Given the description of an element on the screen output the (x, y) to click on. 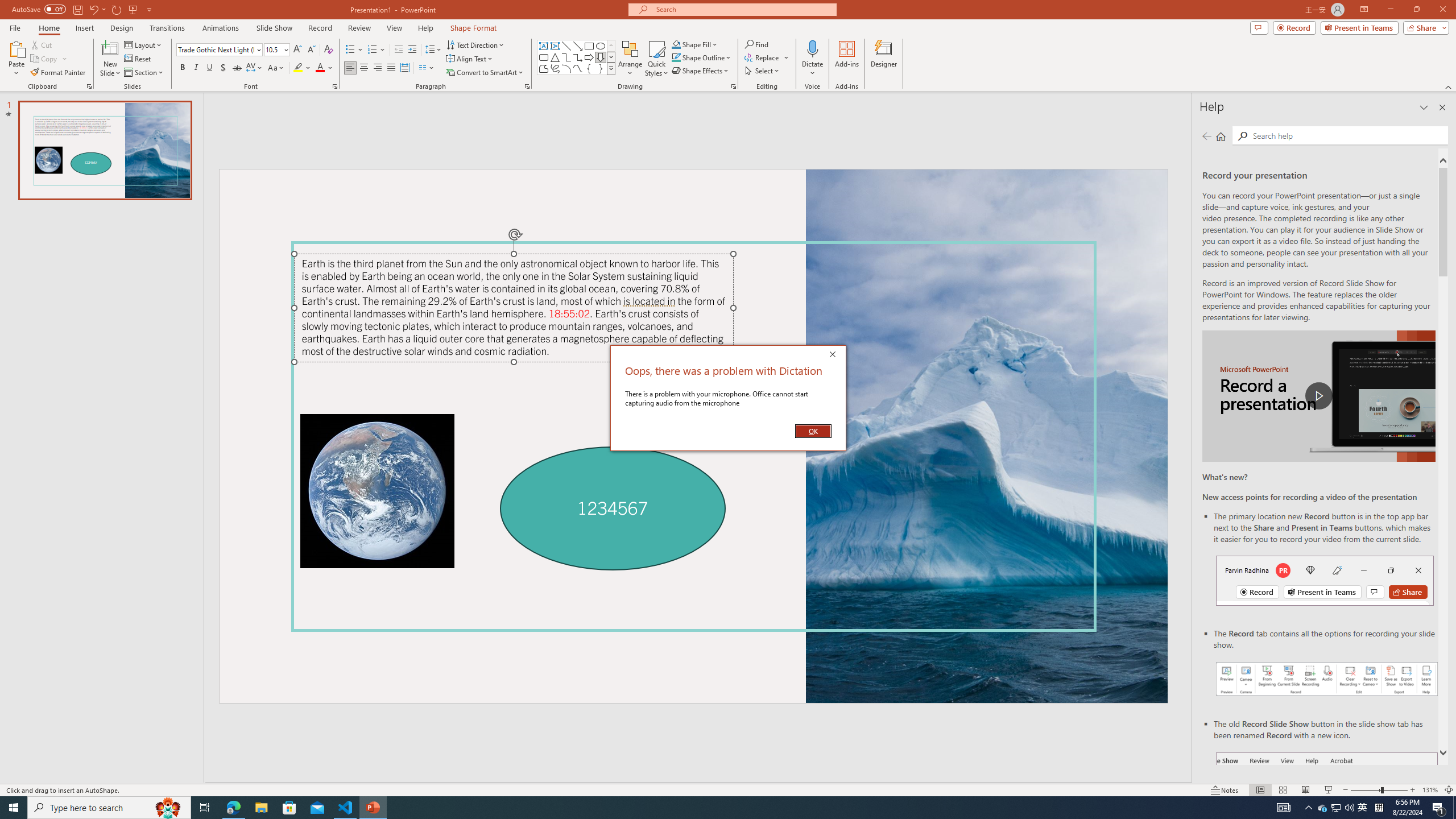
Show desktop (1454, 807)
Font Size (276, 49)
Zoom to Fit  (1449, 790)
Previous page (1206, 136)
Format Painter (58, 72)
Row up (611, 45)
Align Text (470, 58)
From Beginning (133, 9)
Font Color Red (320, 67)
Freeform: Shape (543, 68)
View (395, 28)
Paste (16, 48)
User Promoted Notification Area (1336, 807)
Arrow: Right (589, 57)
Zoom (1379, 790)
